Given the description of an element on the screen output the (x, y) to click on. 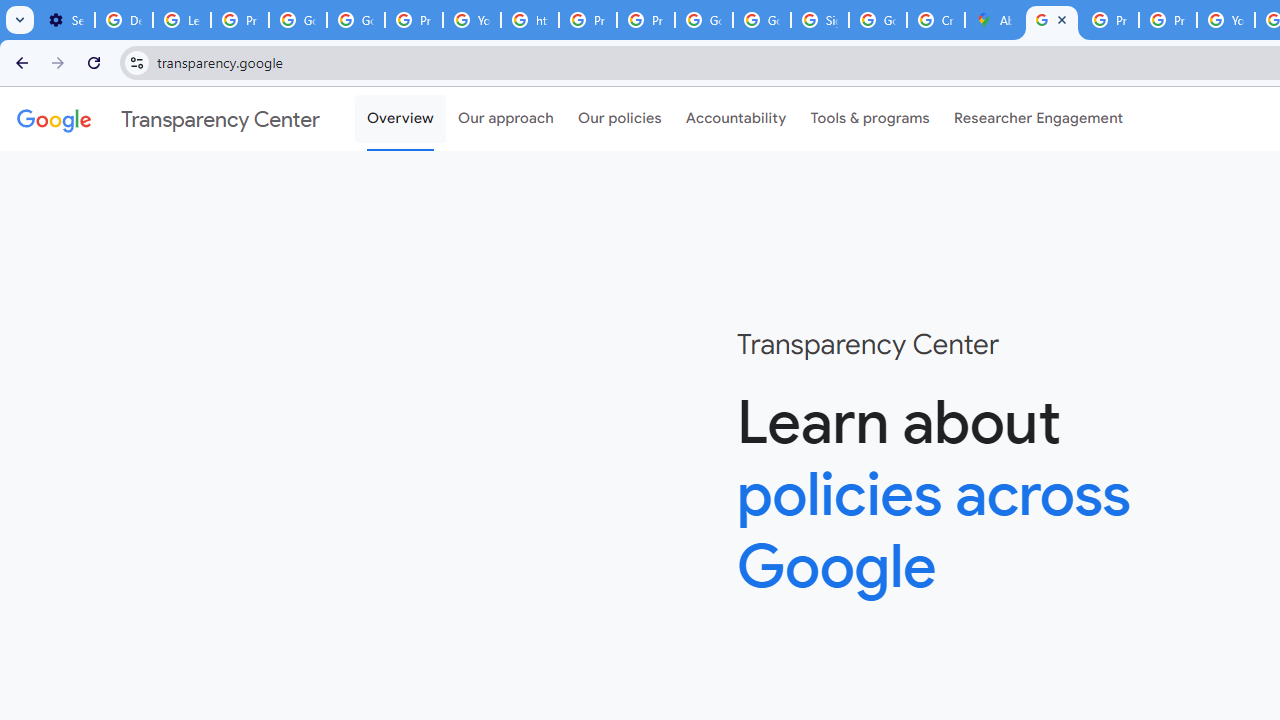
Privacy Help Center - Policies Help (587, 20)
Our policies (619, 119)
Transparency Center (167, 119)
Google Account Help (297, 20)
Settings - On startup (65, 20)
